Given the description of an element on the screen output the (x, y) to click on. 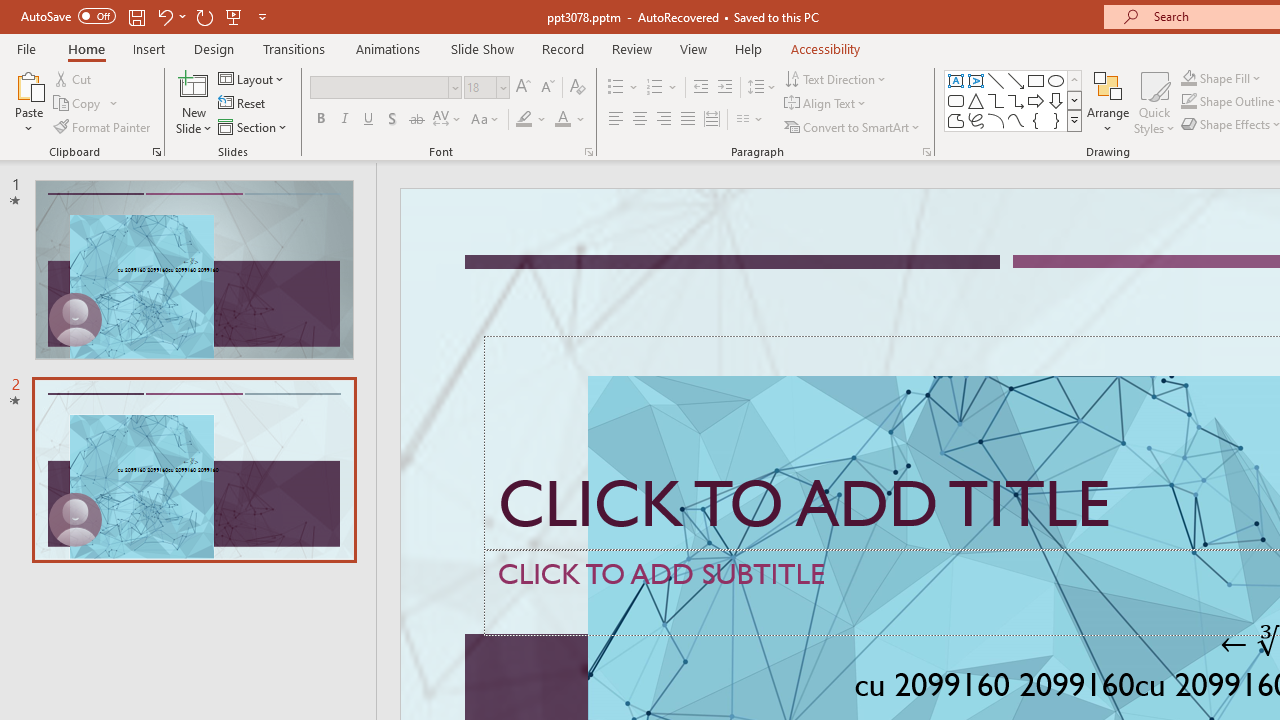
Shape Fill Dark Green, Accent 2 (1188, 78)
